Given the description of an element on the screen output the (x, y) to click on. 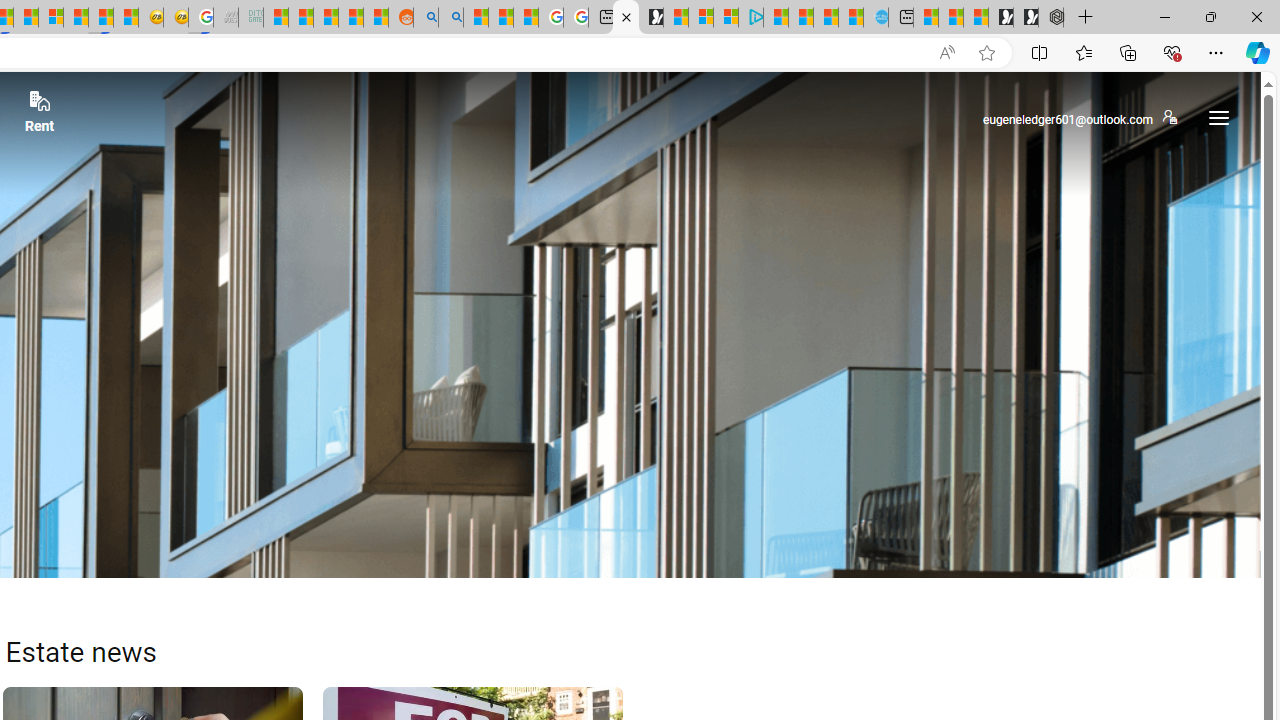
hamburger button  (1218, 117)
